Given the description of an element on the screen output the (x, y) to click on. 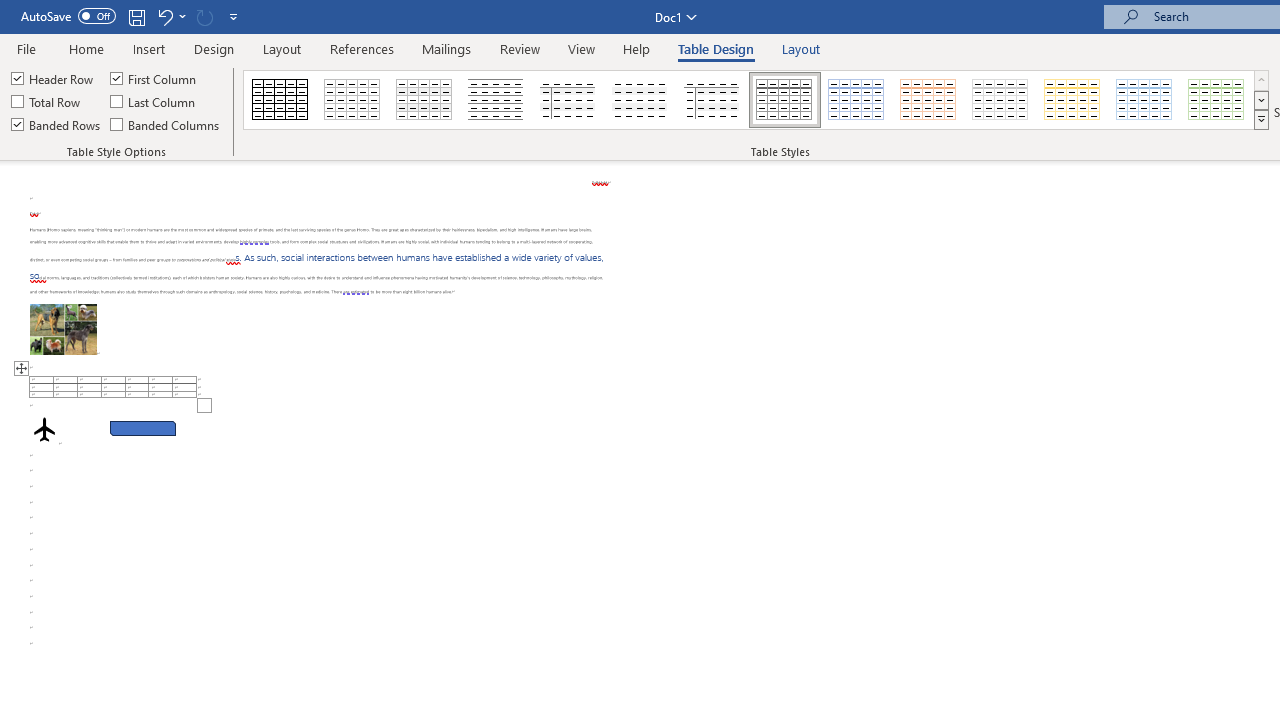
Save (136, 15)
System (10, 11)
Grid Table 1 Light - Accent 6 (1217, 100)
Morphological variation in six dogs (63, 328)
Plain Table 2 (496, 100)
Customize Quick Access Toolbar (234, 15)
Grid Table 1 Light - Accent 2 (929, 100)
Airplane with solid fill (43, 429)
AutoSave (68, 16)
Row up (1261, 79)
More Options (182, 15)
Table Design (715, 48)
Home (86, 48)
Grid Table 1 Light (784, 100)
